Given the description of an element on the screen output the (x, y) to click on. 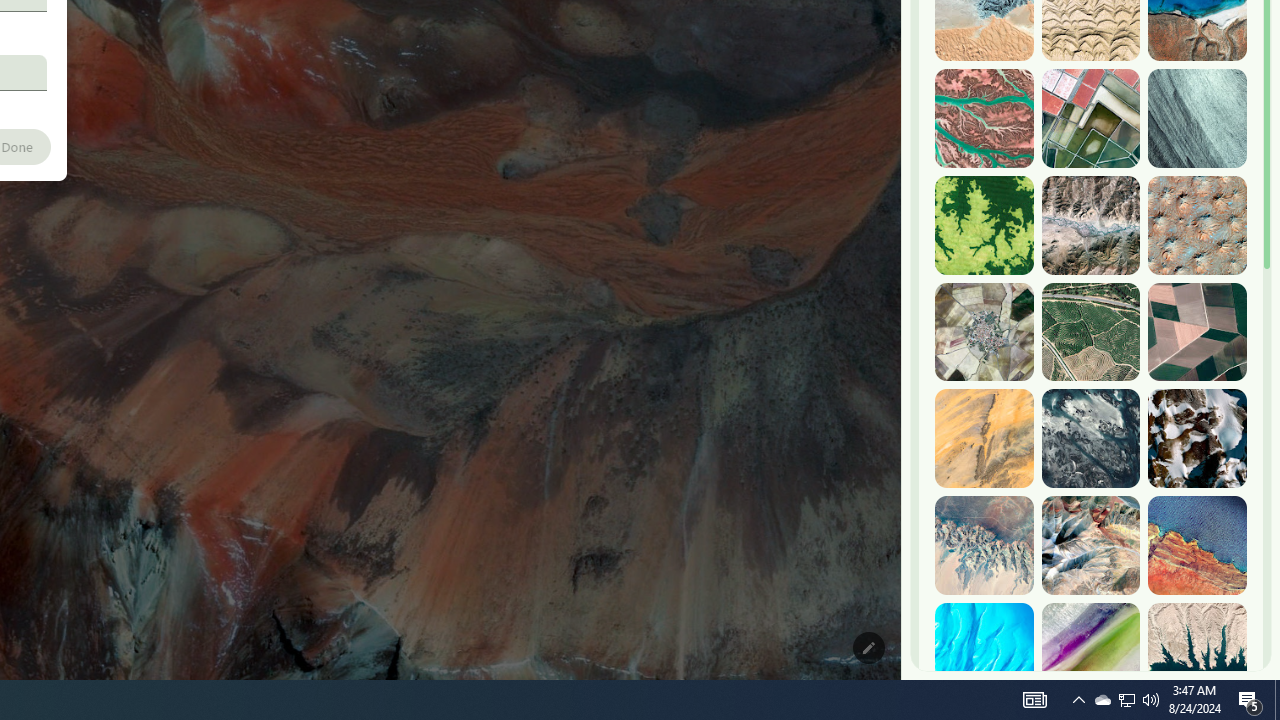
Iceland (1197, 119)
Side Panel Resize Handle (905, 39)
Isla Cristina, Spain (1090, 332)
South Eleuthera, The Bahamas (984, 651)
Ouargla, Algeria (1197, 225)
Antarctica (1197, 438)
Utrera, Spain (1197, 332)
Granville, France (1090, 438)
Atar, Mauritania (984, 438)
Hainan, China (1197, 651)
Qesm Al Wahat Ad Dakhlah, Egypt (984, 545)
Aigues-Mortes, France (1090, 119)
Rikaze, China (1090, 225)
Libya (1197, 545)
